Given the description of an element on the screen output the (x, y) to click on. 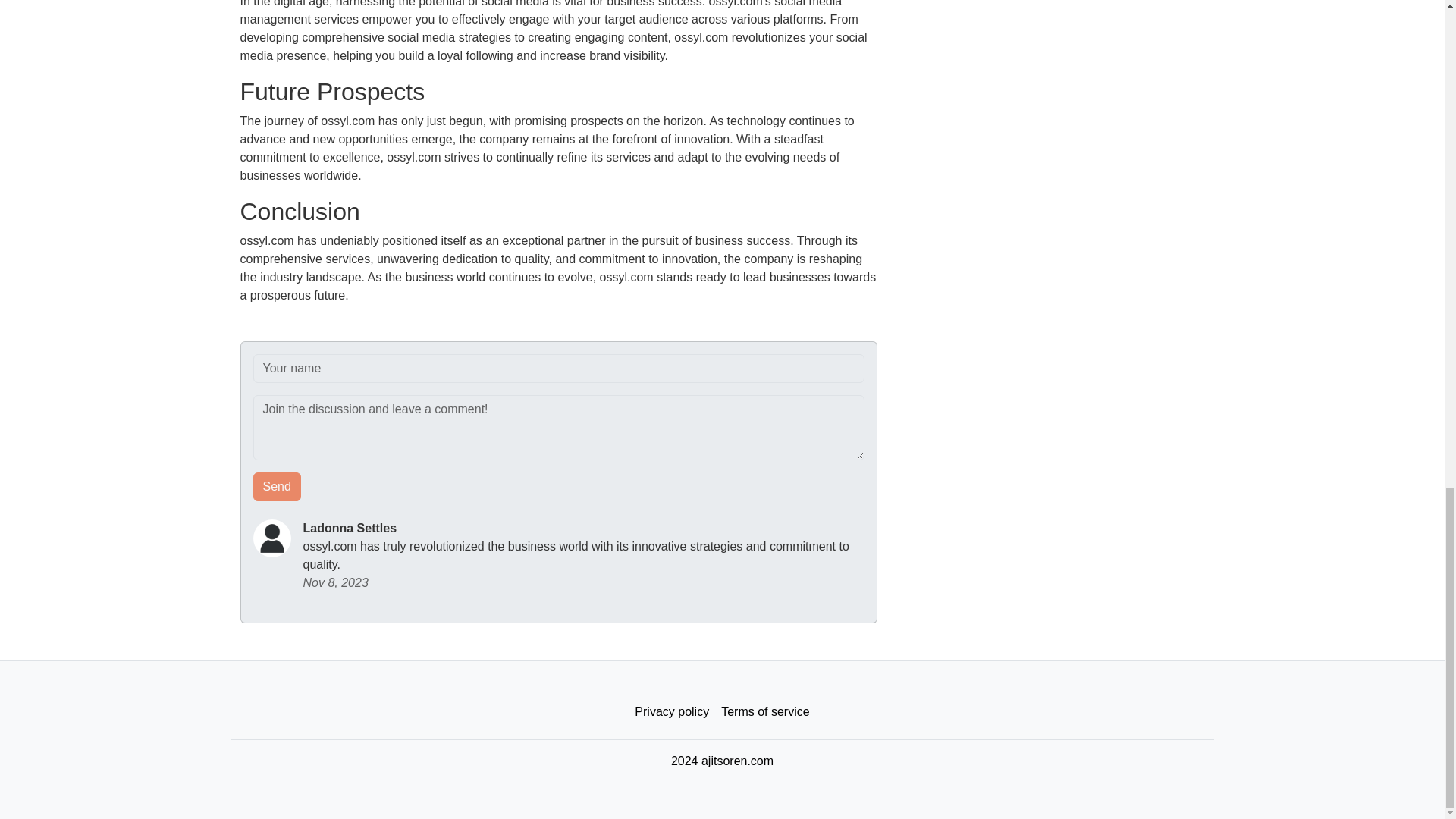
Terms of service (764, 711)
Send (277, 486)
Send (277, 486)
Privacy policy (671, 711)
